Given the description of an element on the screen output the (x, y) to click on. 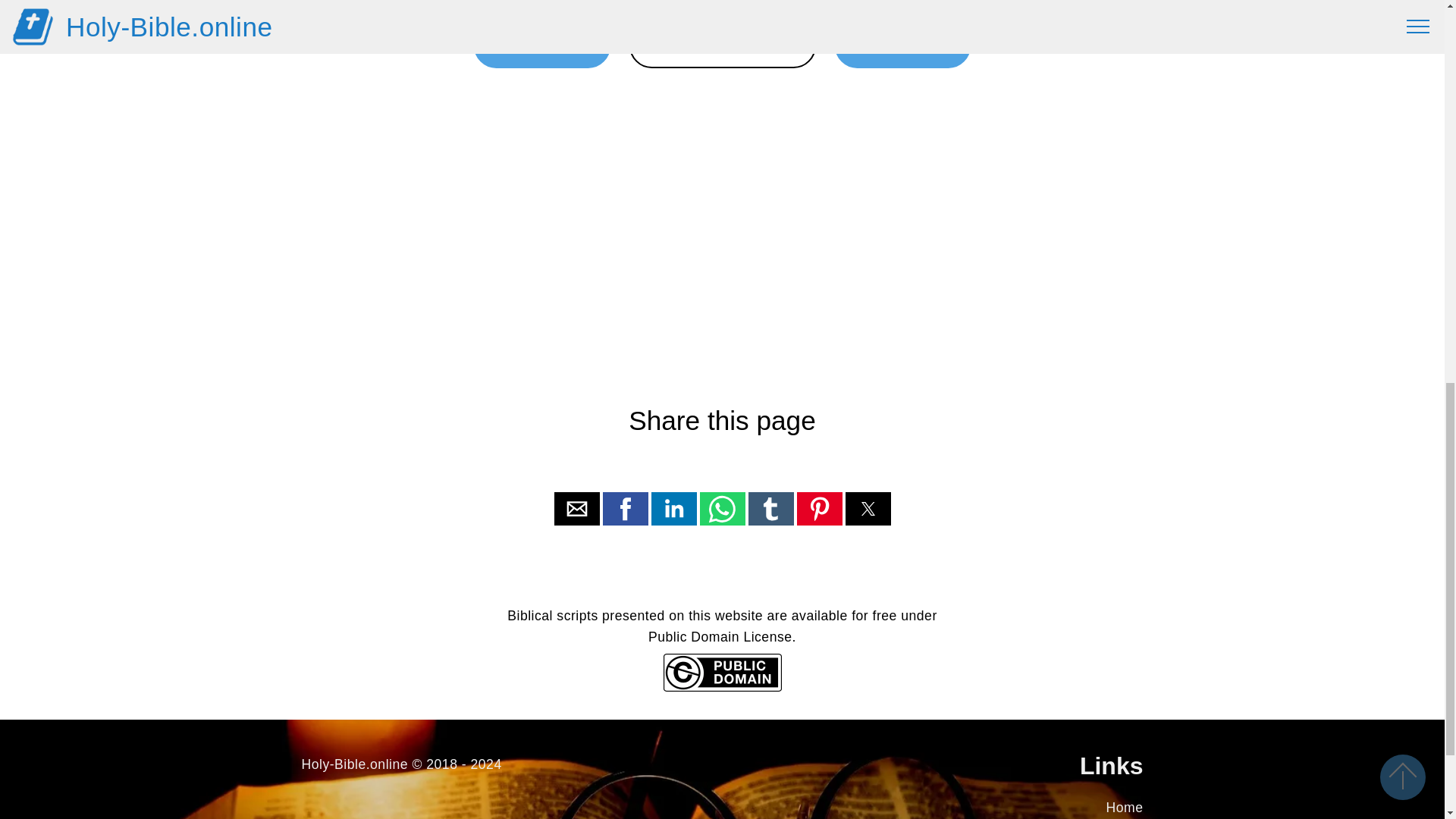
NEXT VERSE (902, 45)
PREV VERSE (542, 45)
Home (1124, 807)
WHOLE CHAPTER 23 (721, 45)
Click to read more about Public Domain in Wikipedia (721, 686)
